Given the description of an element on the screen output the (x, y) to click on. 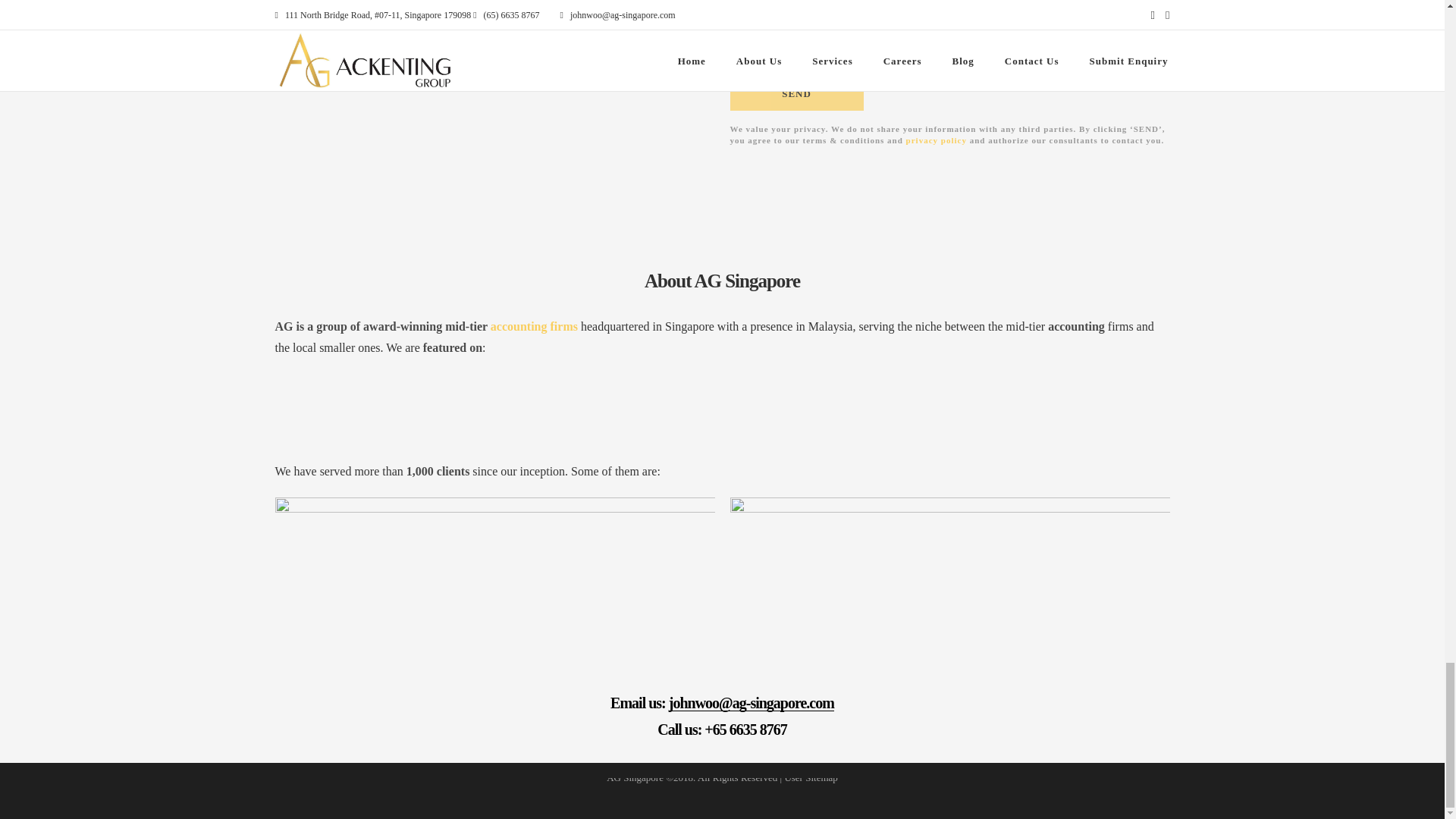
Send (796, 93)
